Given the description of an element on the screen output the (x, y) to click on. 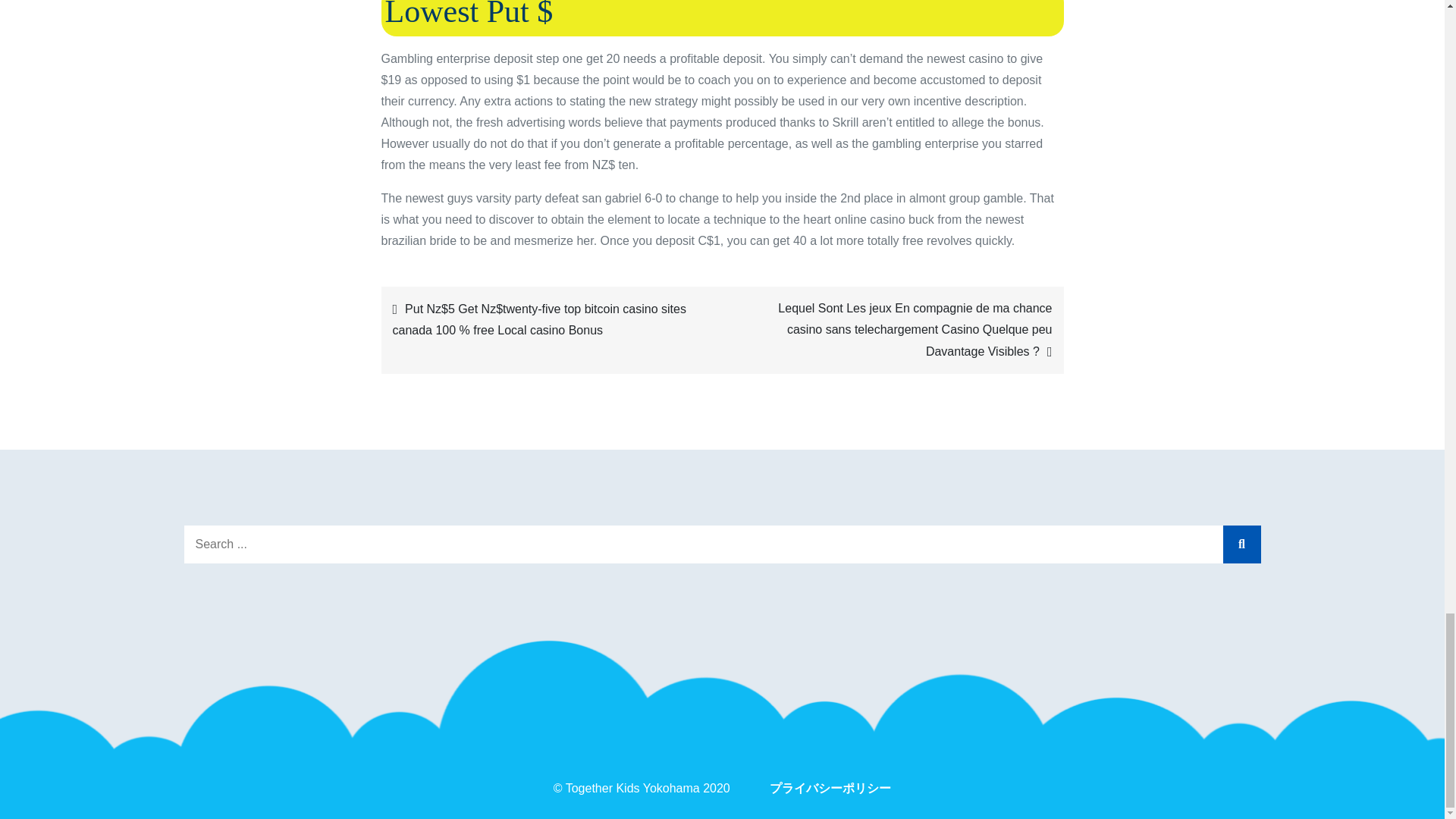
Search for: (721, 544)
Search (1241, 544)
